Given the description of an element on the screen output the (x, y) to click on. 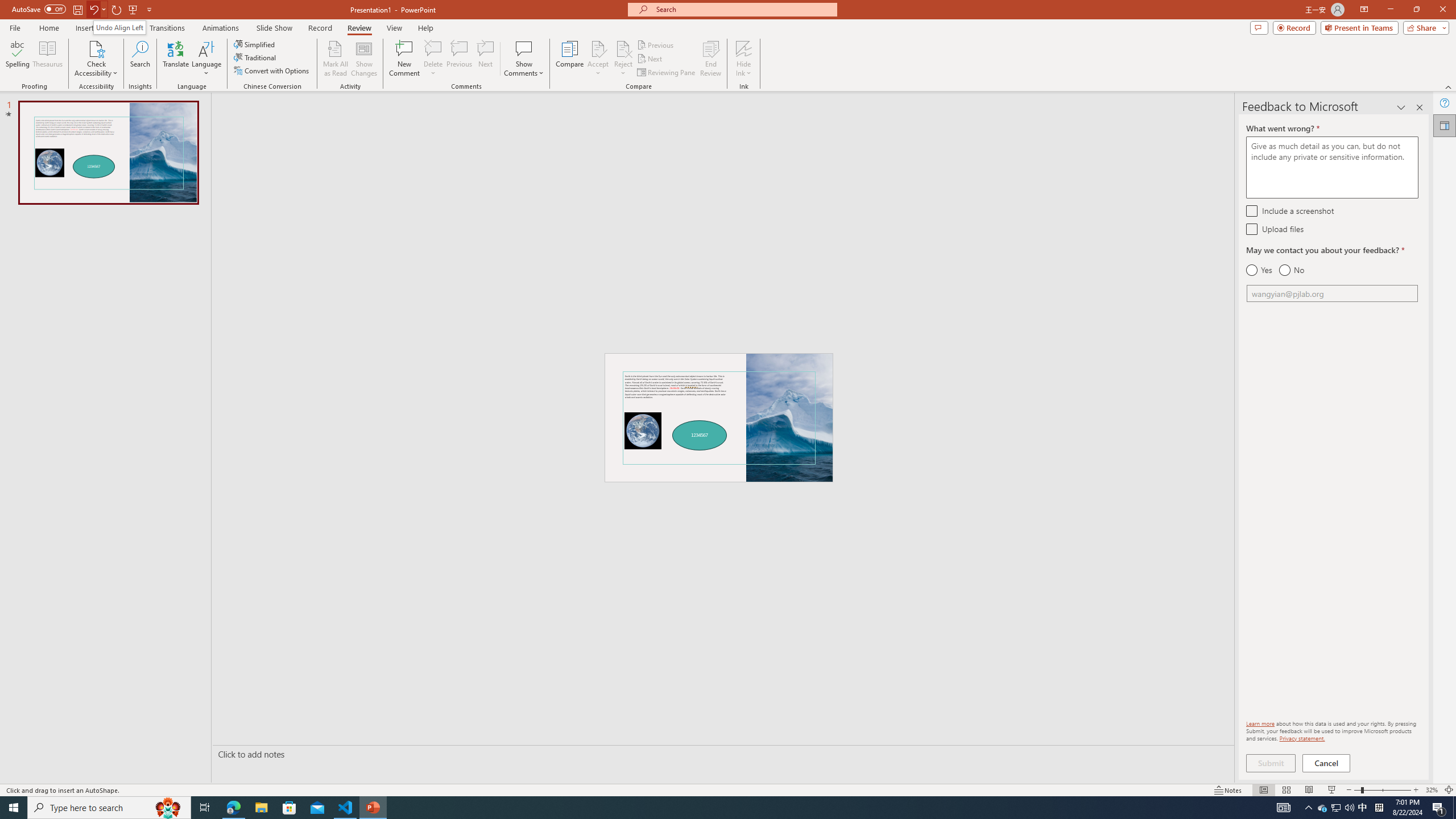
Translate (175, 58)
Show Comments (524, 58)
Email (1332, 293)
Yes (1259, 269)
Accept (598, 58)
